Given the description of an element on the screen output the (x, y) to click on. 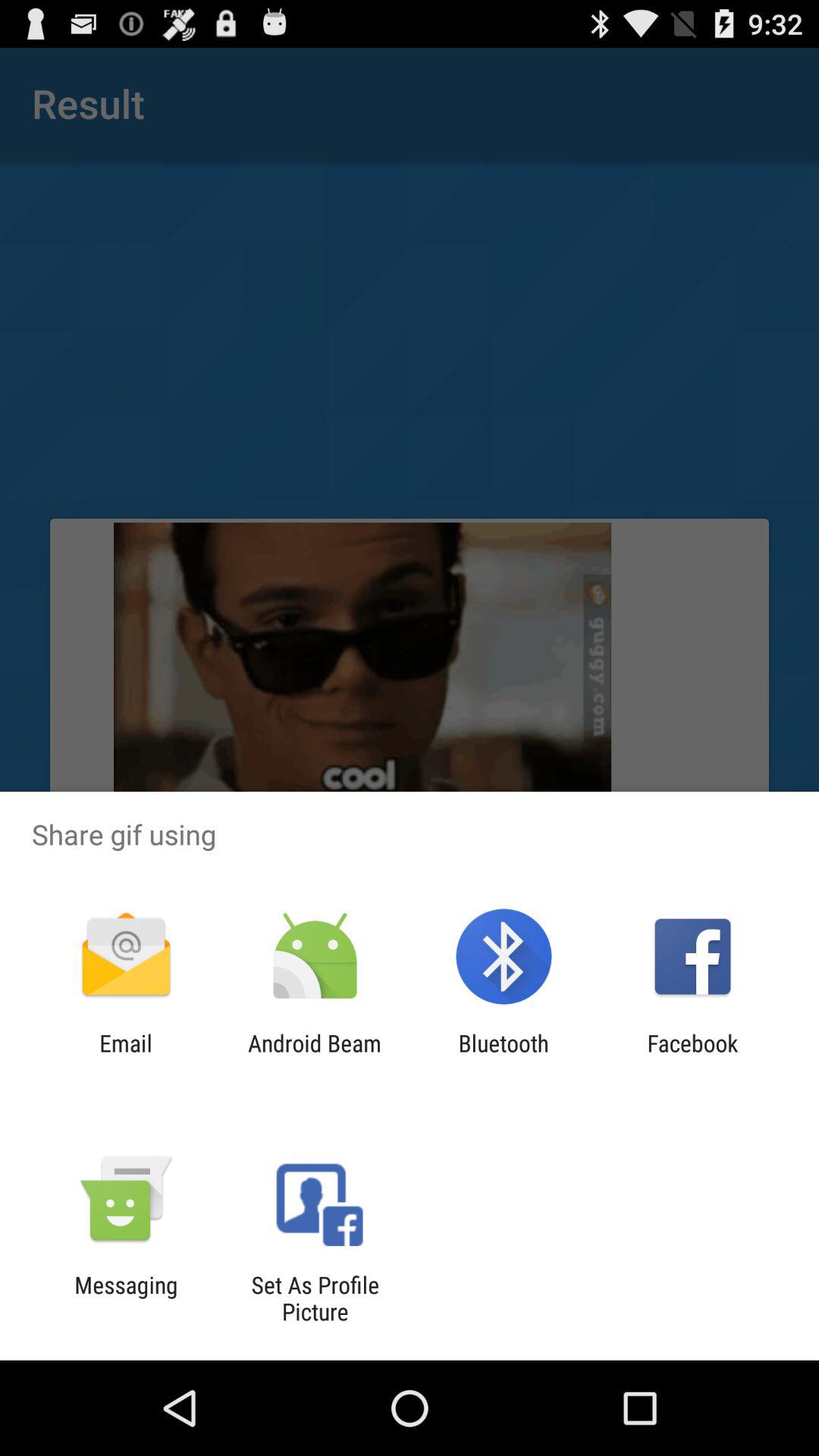
jump until facebook app (692, 1056)
